Given the description of an element on the screen output the (x, y) to click on. 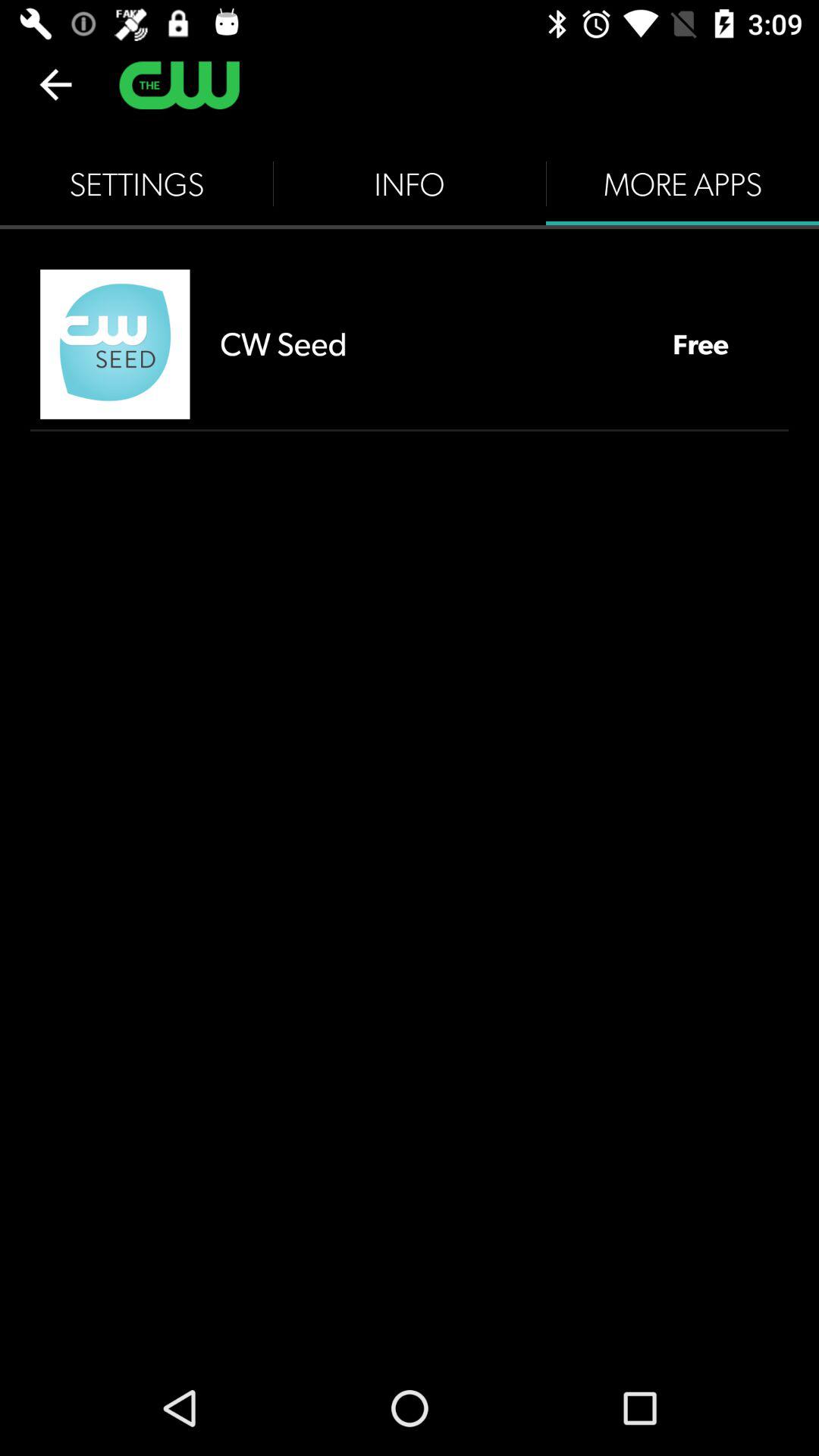
turn on item to the left of more apps (409, 184)
